Given the description of an element on the screen output the (x, y) to click on. 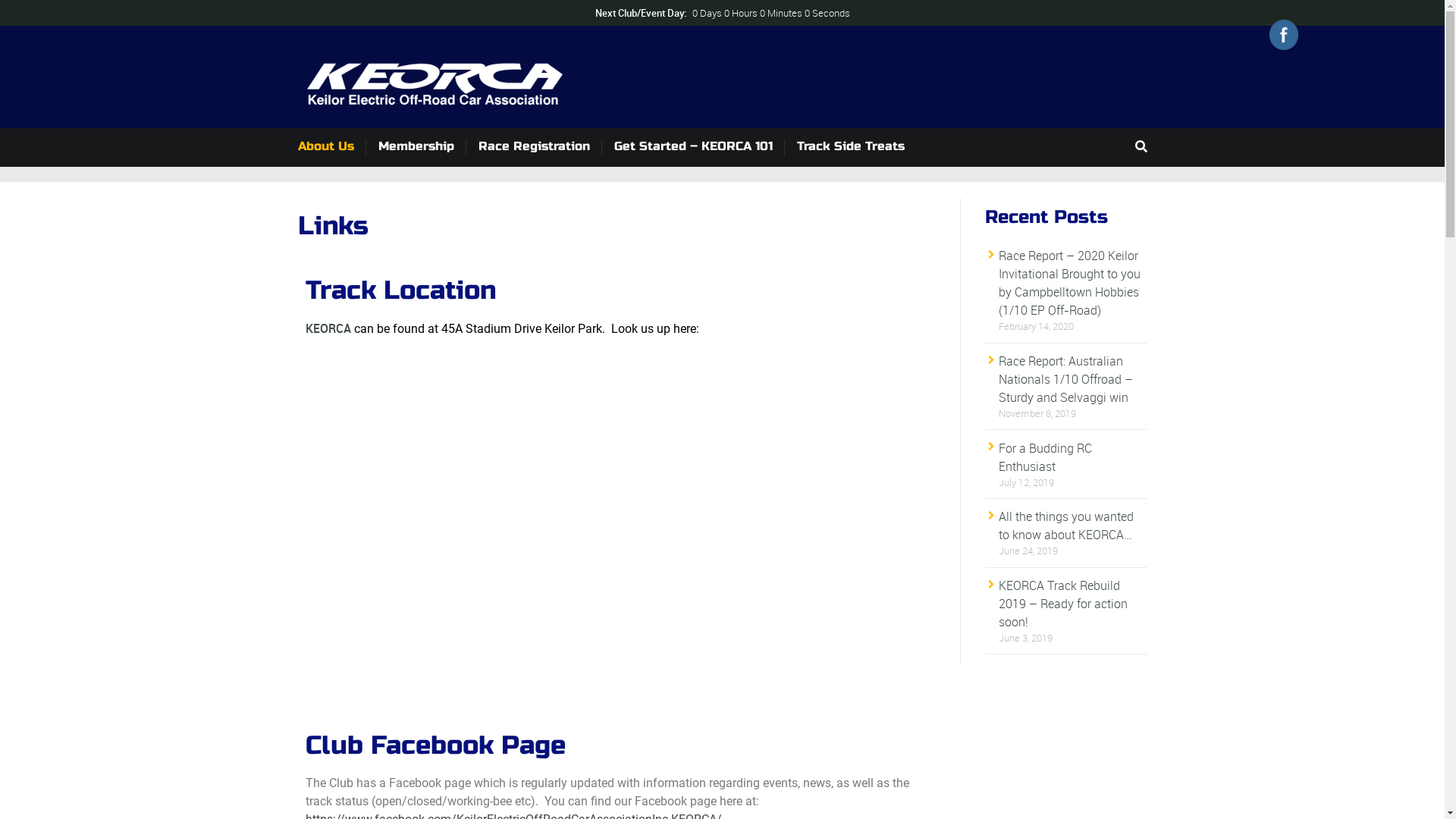
Membership Element type: text (421, 147)
Track Side Treats Element type: text (856, 147)
For a Budding RC Enthusiast Element type: text (1045, 456)
Facebook Element type: hover (1283, 34)
Race Registration Element type: text (539, 147)
About Us Element type: text (331, 147)
